Given the description of an element on the screen output the (x, y) to click on. 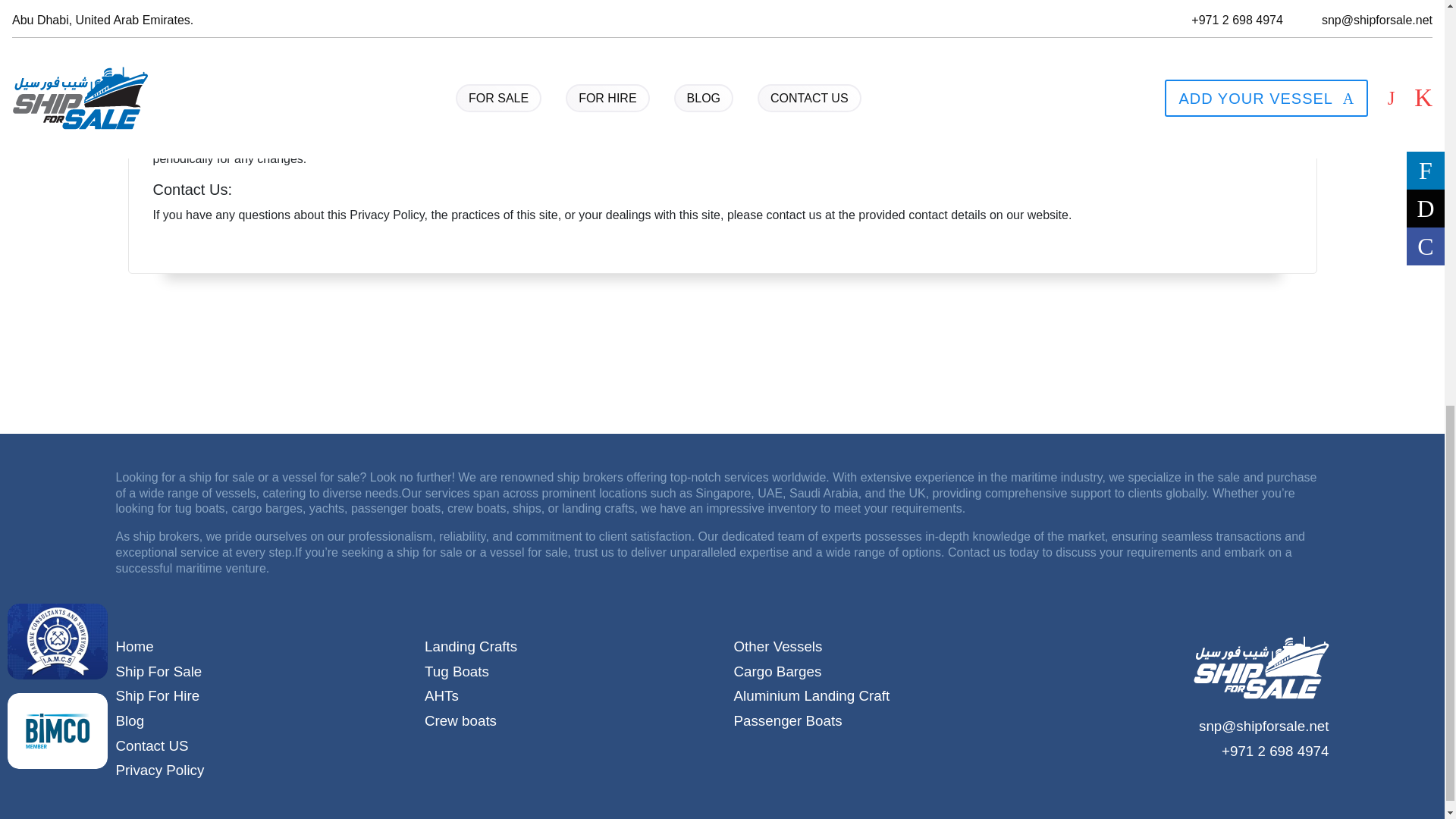
Ship For Hire (258, 696)
Other Vessels (876, 647)
Cargo Barges (876, 672)
Passenger Boats (876, 721)
Ship For Sale (258, 672)
Crew boats (568, 721)
Blog (258, 721)
Contact US (258, 746)
Tug Boats (568, 672)
Home (258, 647)
